Given the description of an element on the screen output the (x, y) to click on. 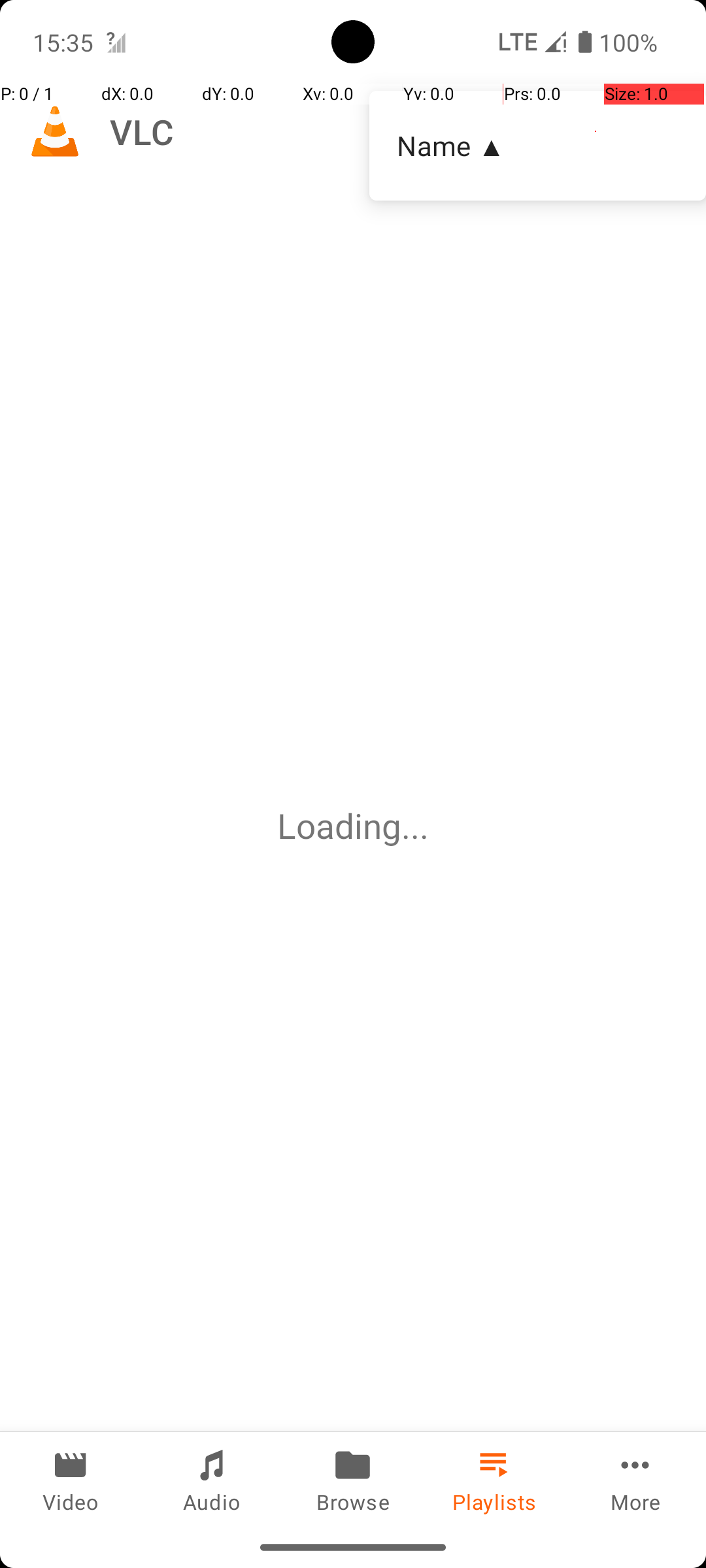
Name. Ascending Element type: android.widget.LinearLayout (537, 145)
Name ▲ Element type: android.widget.TextView (537, 145)
